Given the description of an element on the screen output the (x, y) to click on. 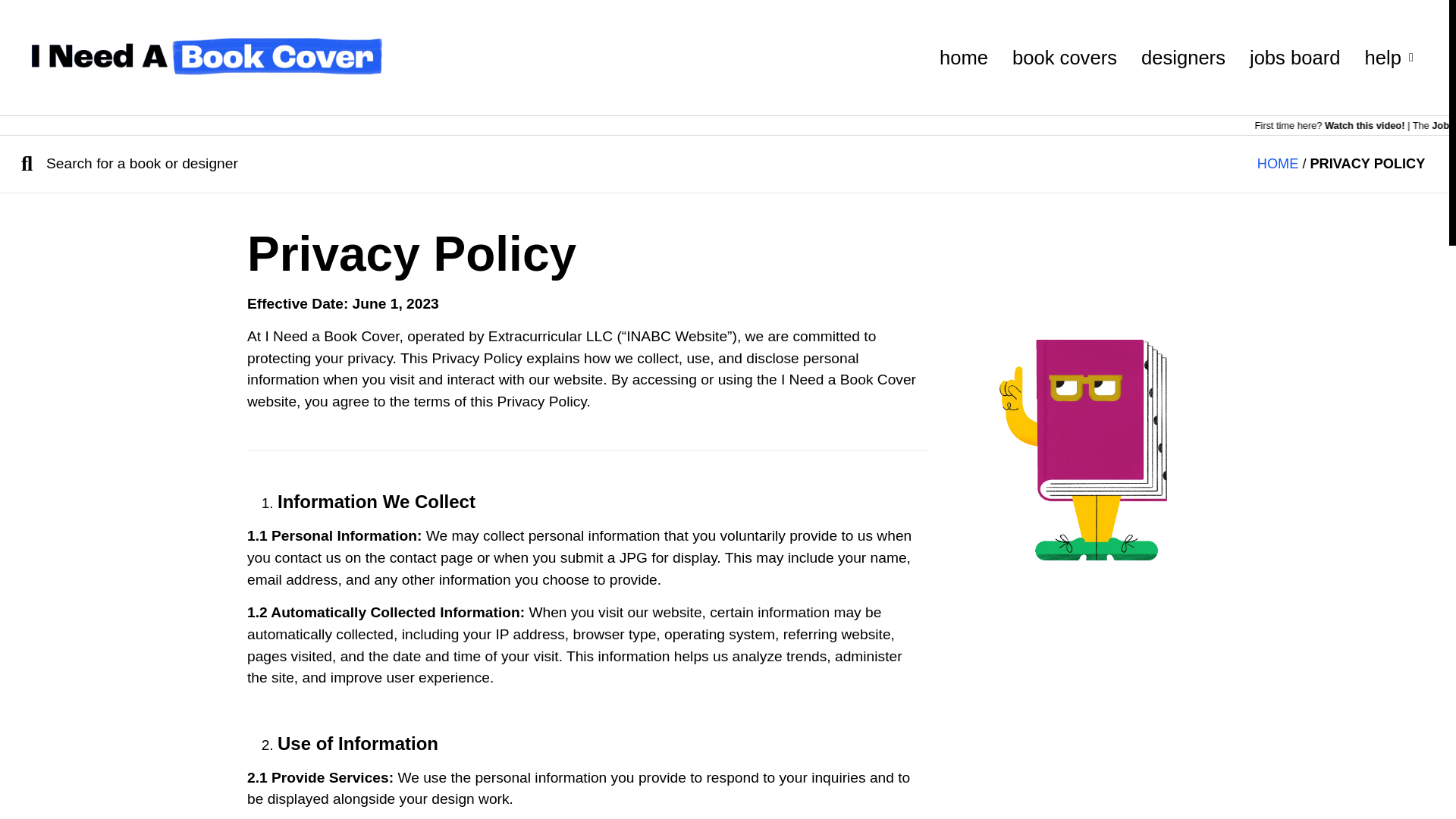
home (963, 57)
jobs board (1294, 57)
Home (1277, 163)
help (1388, 57)
HOME (1277, 163)
designers (1183, 57)
book covers (1063, 57)
